Given the description of an element on the screen output the (x, y) to click on. 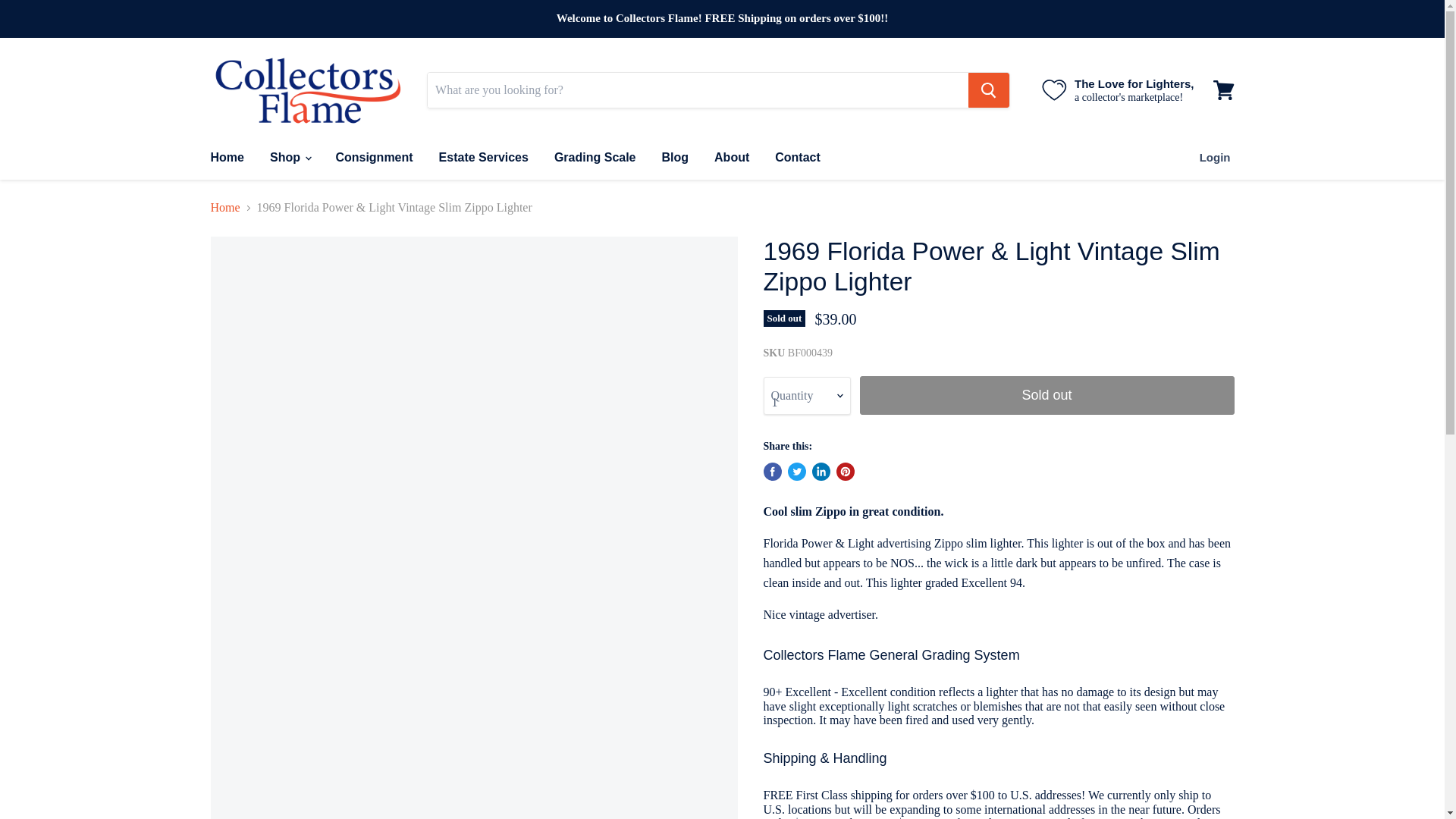
About (731, 157)
Home (226, 157)
Login (1215, 157)
Blog (675, 157)
Grading Scale (595, 157)
Shop (289, 157)
Consignment (373, 157)
Contact (796, 157)
Estate Services (484, 157)
View cart (1223, 89)
